Given the description of an element on the screen output the (x, y) to click on. 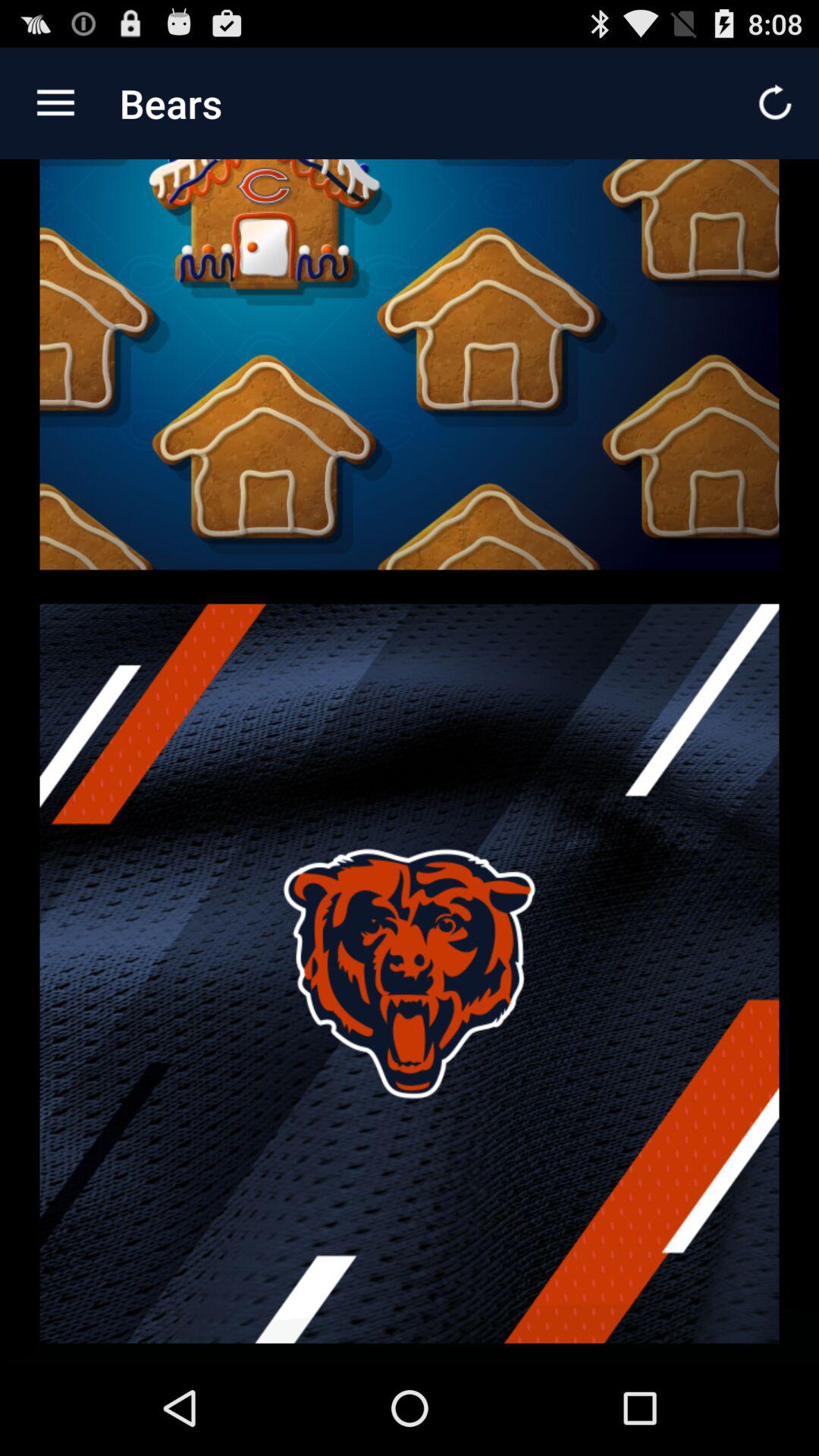
turn off icon at the bottom (409, 973)
